Given the description of an element on the screen output the (x, y) to click on. 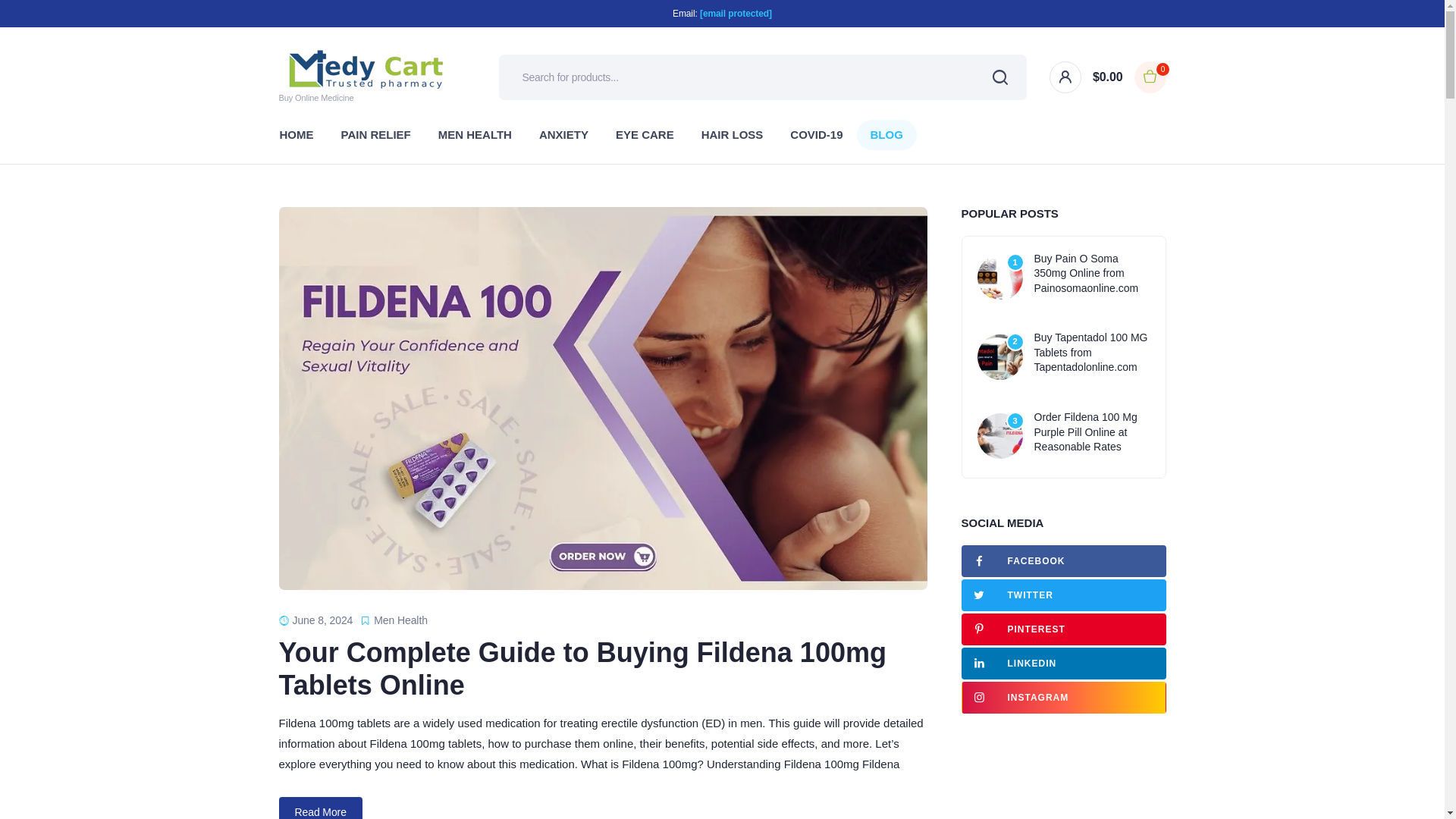
PAIN RELIEF (376, 134)
ANXIETY (563, 134)
BLOG (887, 134)
MEN HEALTH (475, 134)
HAIR LOSS (732, 134)
Buy Pain O Soma 350mg Online from Painosomaonline.com (1091, 273)
HOME (295, 134)
Buy Online Medicine (365, 76)
Buy Tapentadol 100 MG Tablets from Tapentadolonline.com (1091, 352)
Order Fildena 100 Mg Purple Pill Online at Reasonable Rates (1091, 432)
